Given the description of an element on the screen output the (x, y) to click on. 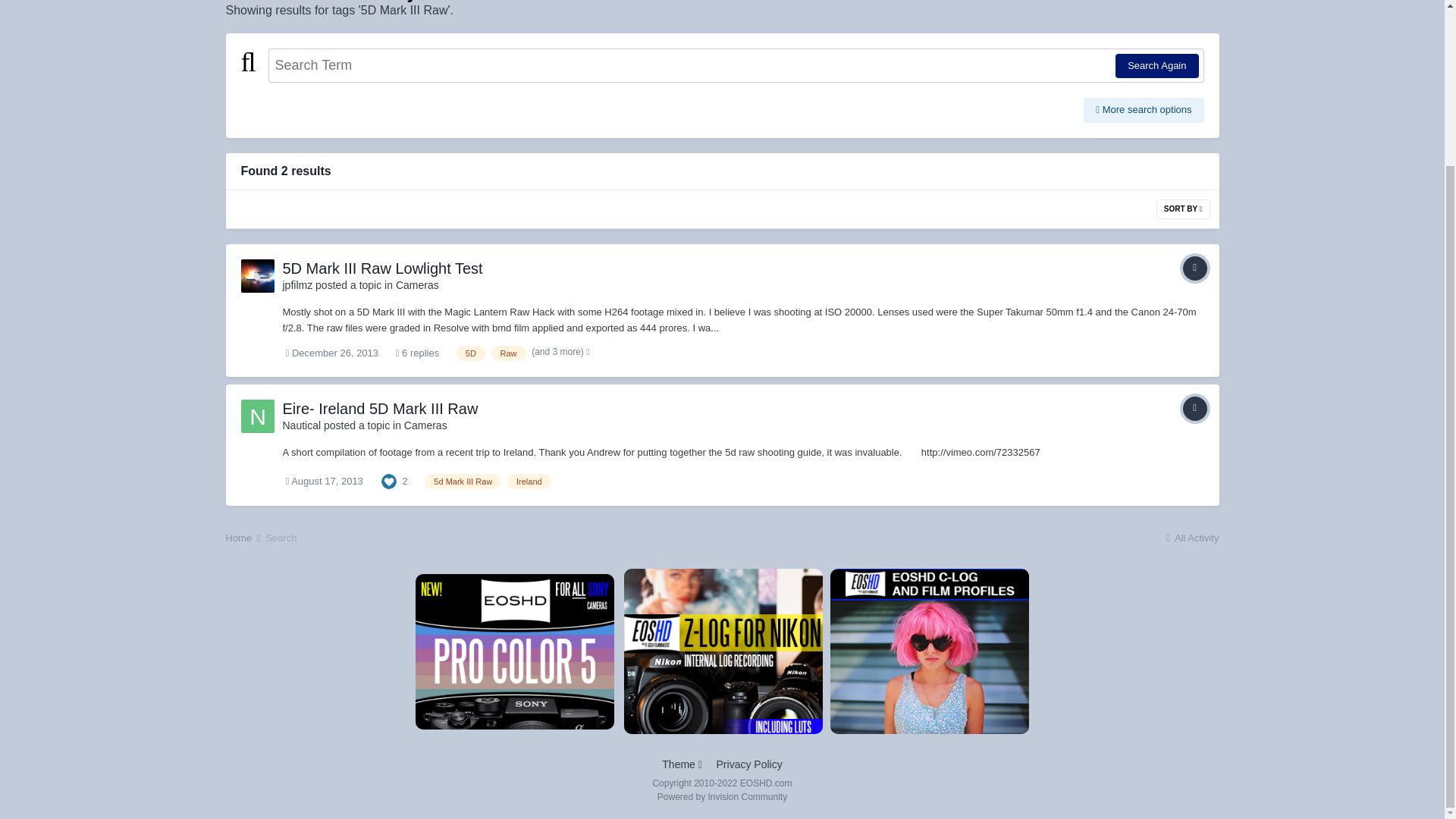
Go to Nautical's profile (258, 416)
Topic (1194, 268)
Go to jpfilmz's profile (297, 285)
Go to jpfilmz's profile (258, 275)
Search Again (1156, 65)
Go to Nautical's profile (301, 425)
See who reacted "Like" (388, 480)
More search options (1143, 109)
Find other content tagged with '5D' (470, 353)
Topic (1194, 408)
